Given the description of an element on the screen output the (x, y) to click on. 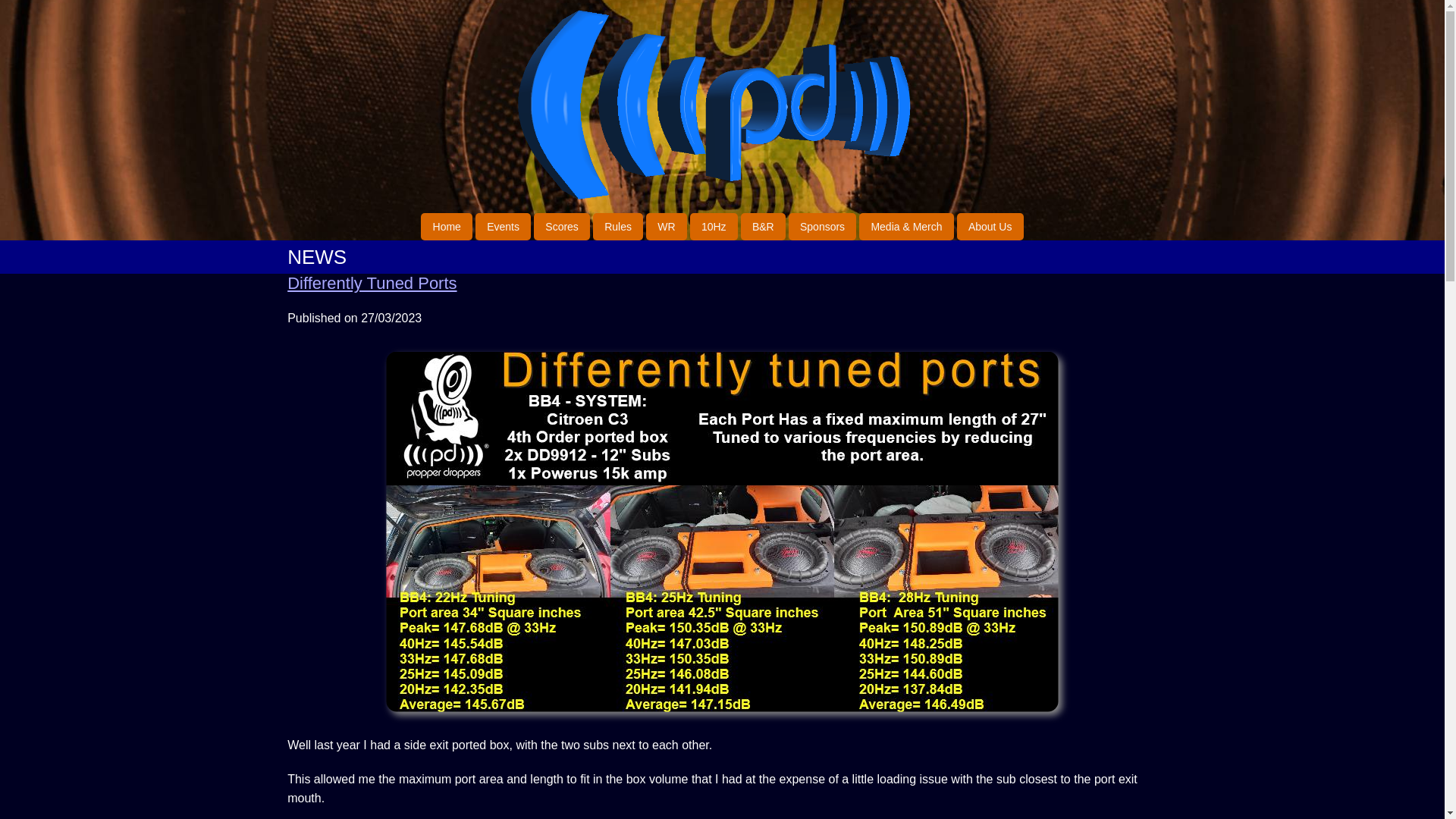
Sponsors (823, 226)
RULES AND CATEGORIES (617, 226)
SCORES (561, 226)
Events (503, 226)
Home (445, 226)
EVENTS (503, 226)
KILLER HERTZ LEAGUE (714, 226)
About Us (989, 226)
WORLD RECORDS (666, 226)
SPONSORS (823, 226)
